Given the description of an element on the screen output the (x, y) to click on. 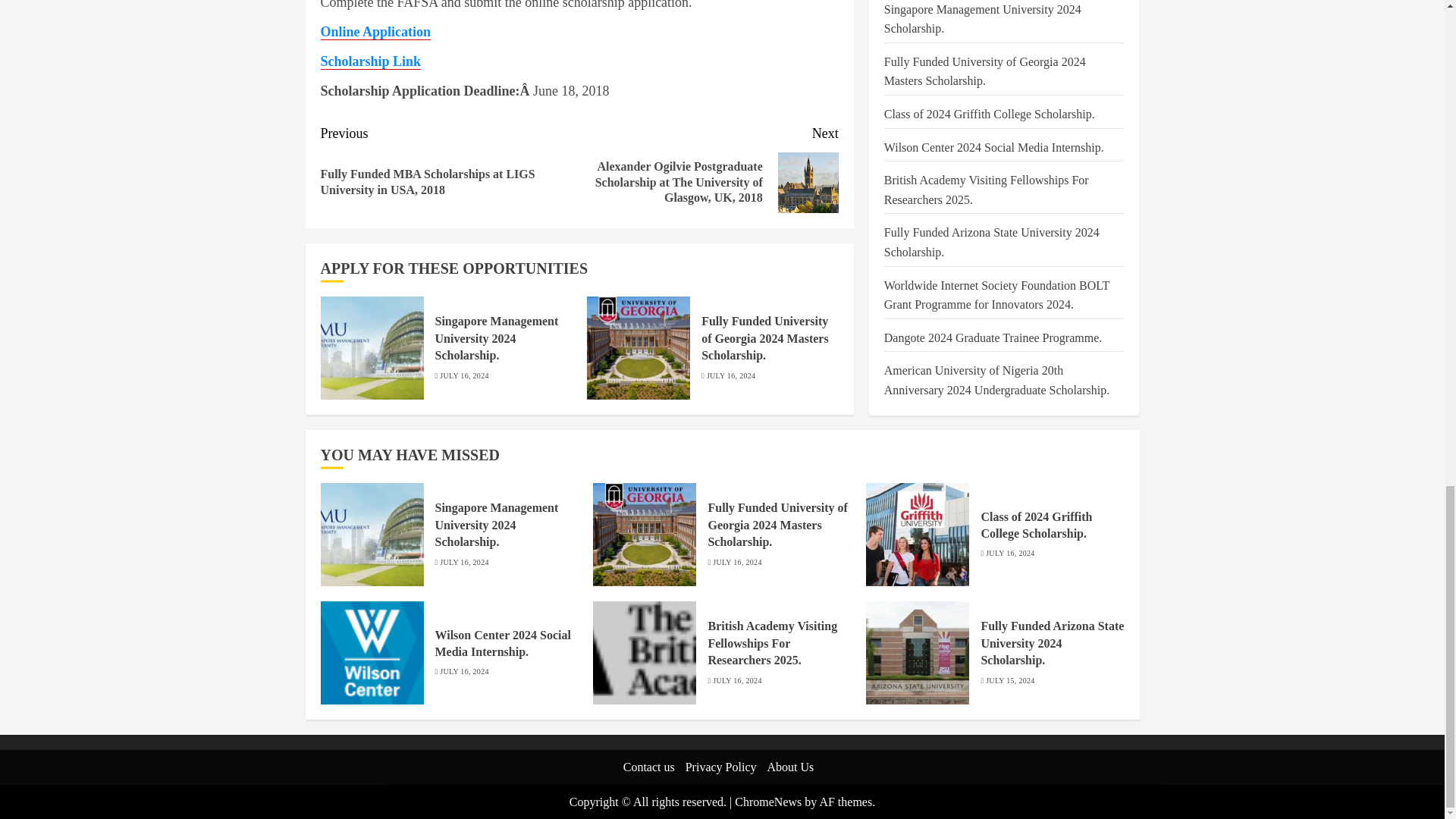
Fully Funded University of Georgia 2024 Masters Scholarship. (777, 524)
Scholarship Link (370, 61)
Fully Funded University of Georgia 2024 Masters Scholarship. (643, 534)
JULY 16, 2024 (463, 376)
JULY 16, 2024 (463, 562)
Singapore Management University 2024 Scholarship. (371, 347)
Online Application (375, 32)
Singapore Management University 2024 Scholarship. (497, 338)
Singapore Management University 2024 Scholarship. (497, 524)
Fully Funded University of Georgia 2024 Masters Scholarship. (764, 338)
Fully Funded University of Georgia 2024 Masters Scholarship. (638, 347)
JULY 16, 2024 (730, 376)
Singapore Management University 2024 Scholarship. (371, 534)
